Given the description of an element on the screen output the (x, y) to click on. 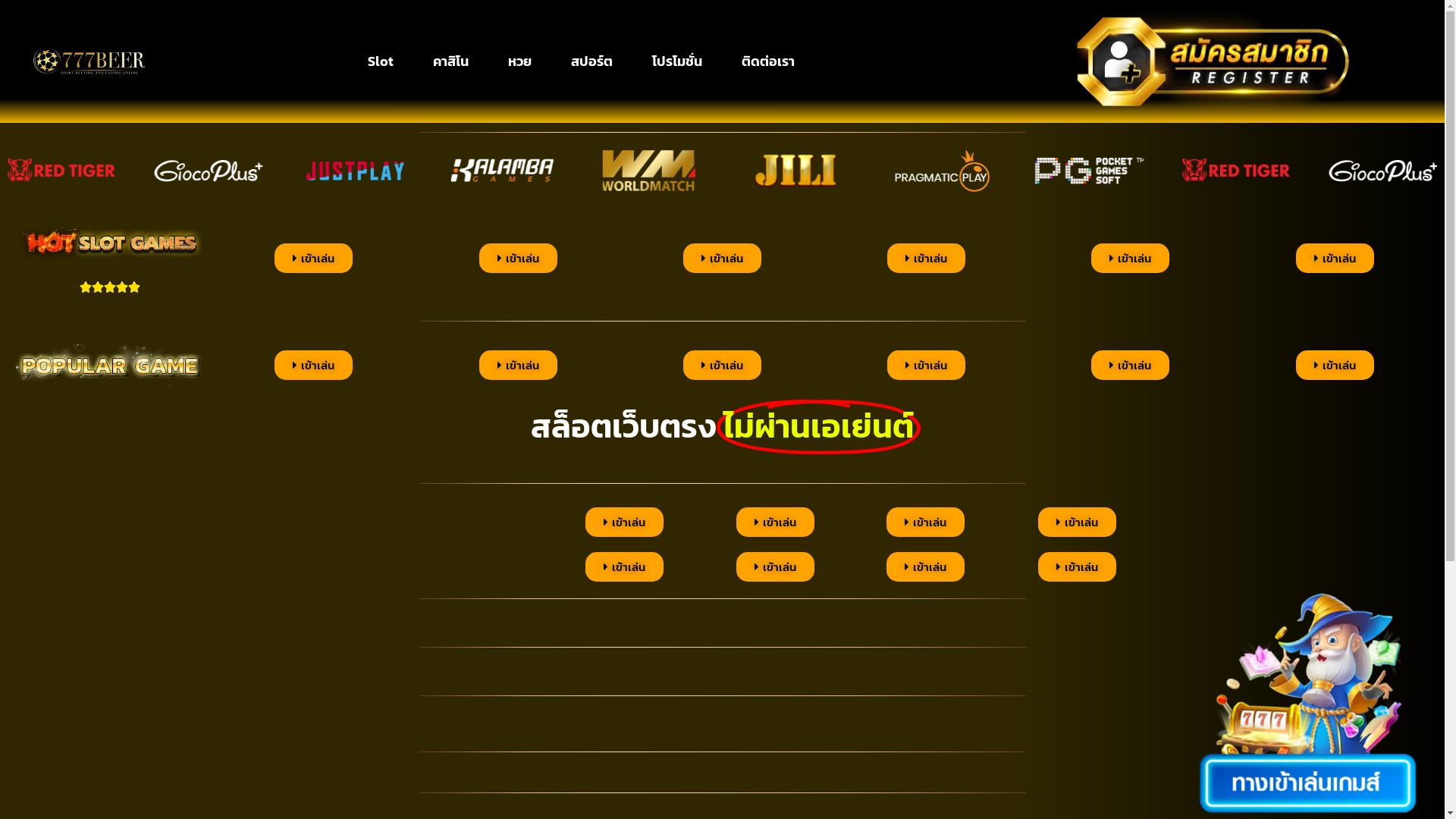
Slot Element type: text (380, 60)
